Given the description of an element on the screen output the (x, y) to click on. 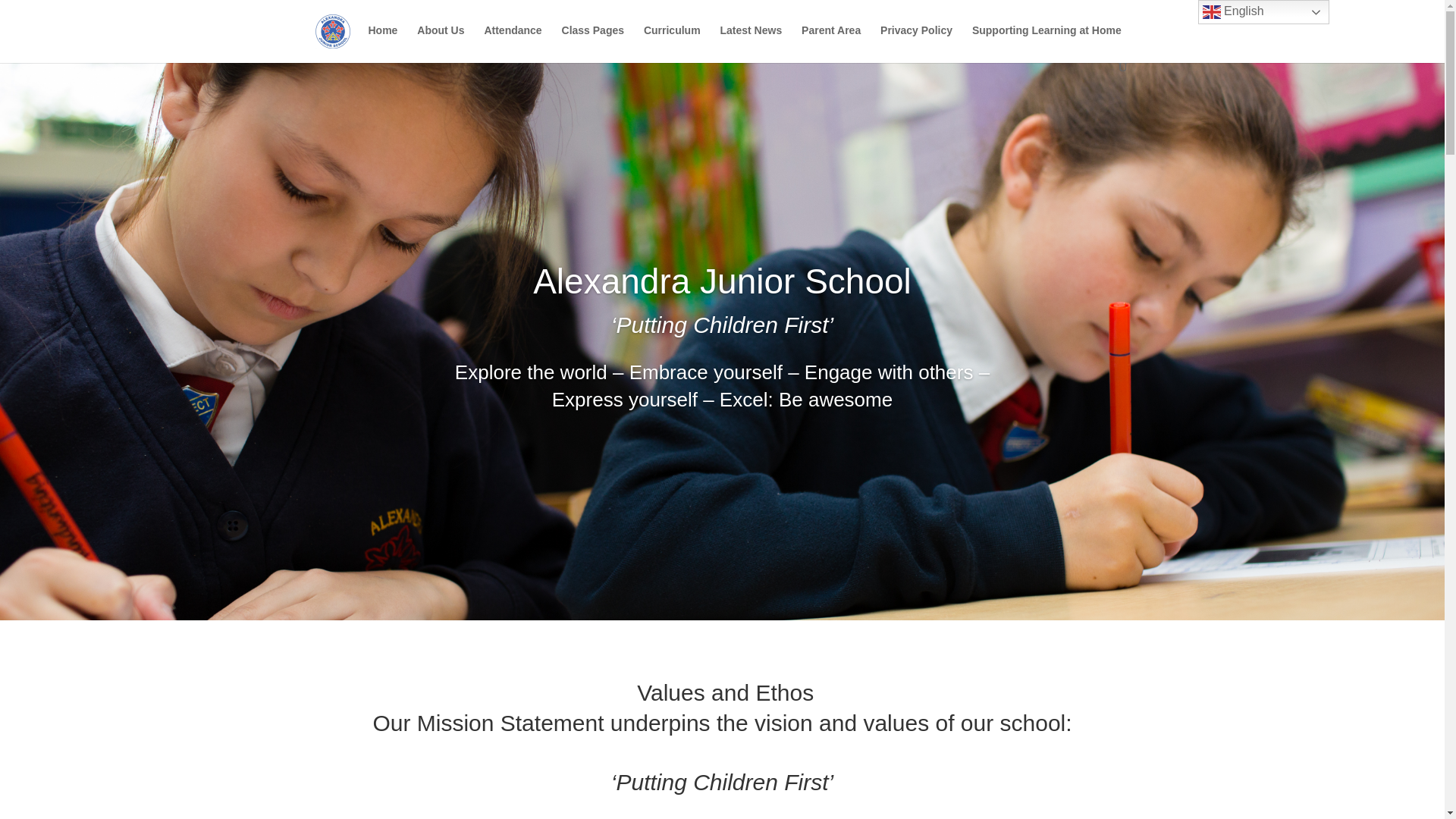
Class Pages (593, 42)
About Us (440, 42)
Attendance (512, 42)
